Given the description of an element on the screen output the (x, y) to click on. 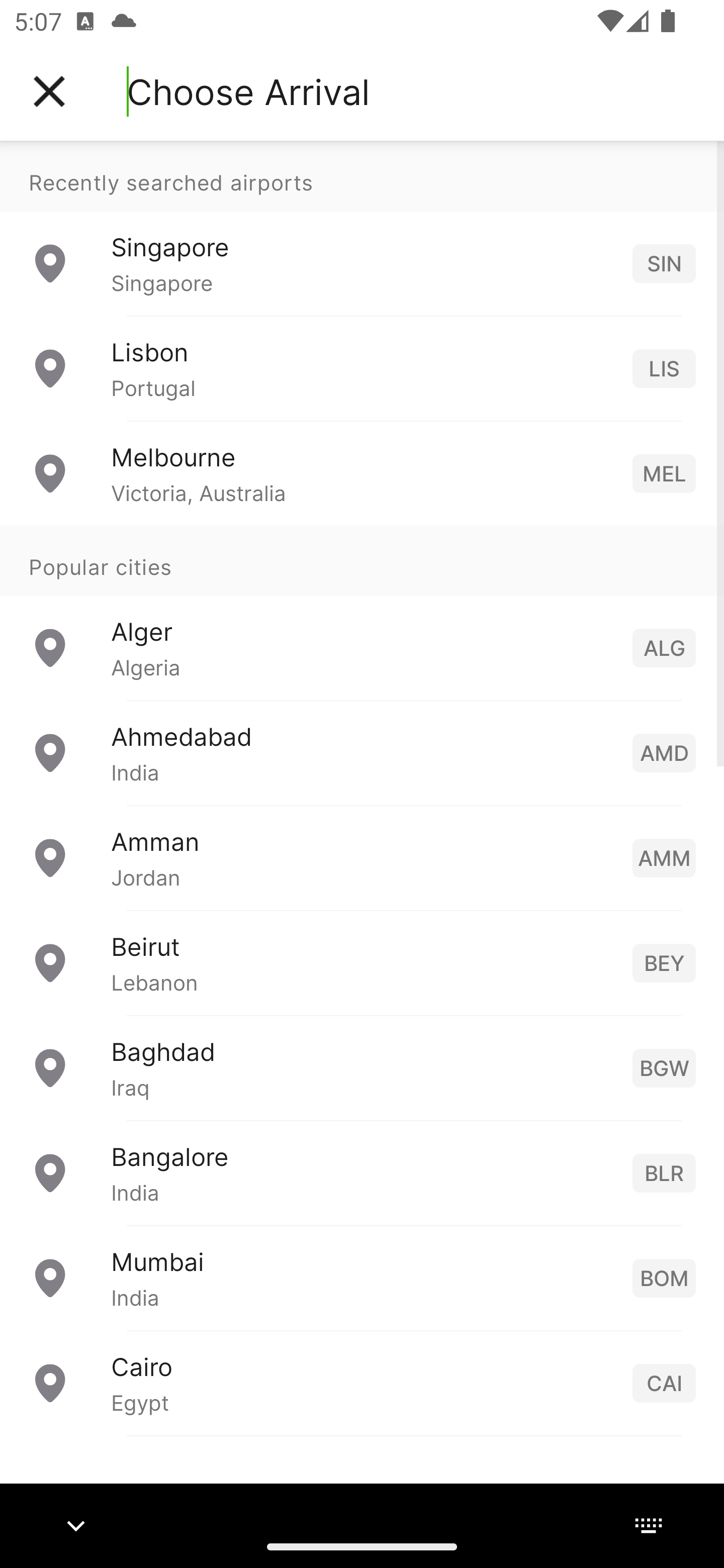
Choose Arrival (247, 91)
Recently searched airports Singapore Singapore SIN (362, 228)
Recently searched airports (362, 176)
Lisbon Portugal LIS (362, 367)
Melbourne Victoria, Australia MEL (362, 472)
Popular cities Alger Algeria ALG (362, 612)
Popular cities (362, 560)
Ahmedabad India AMD (362, 751)
Amman Jordan AMM (362, 856)
Beirut Lebanon BEY (362, 961)
Baghdad Iraq BGW (362, 1066)
Bangalore India BLR (362, 1171)
Mumbai India BOM (362, 1276)
Cairo Egypt CAI (362, 1381)
